Given the description of an element on the screen output the (x, y) to click on. 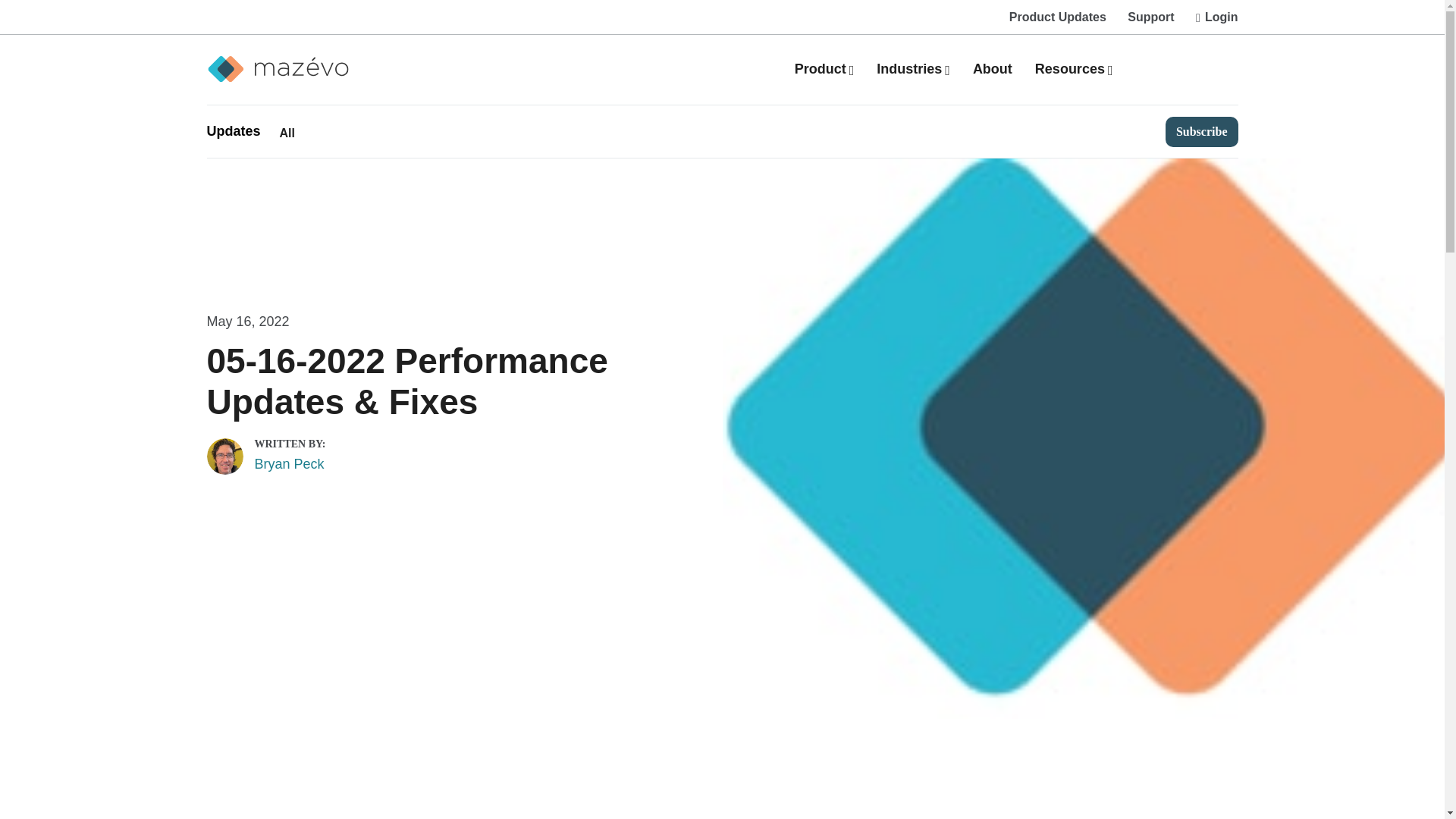
About (991, 69)
Resources (1073, 69)
Industries (912, 69)
Product Updates (1057, 17)
Login (1211, 17)
Support (1150, 17)
Product (824, 69)
